Given the description of an element on the screen output the (x, y) to click on. 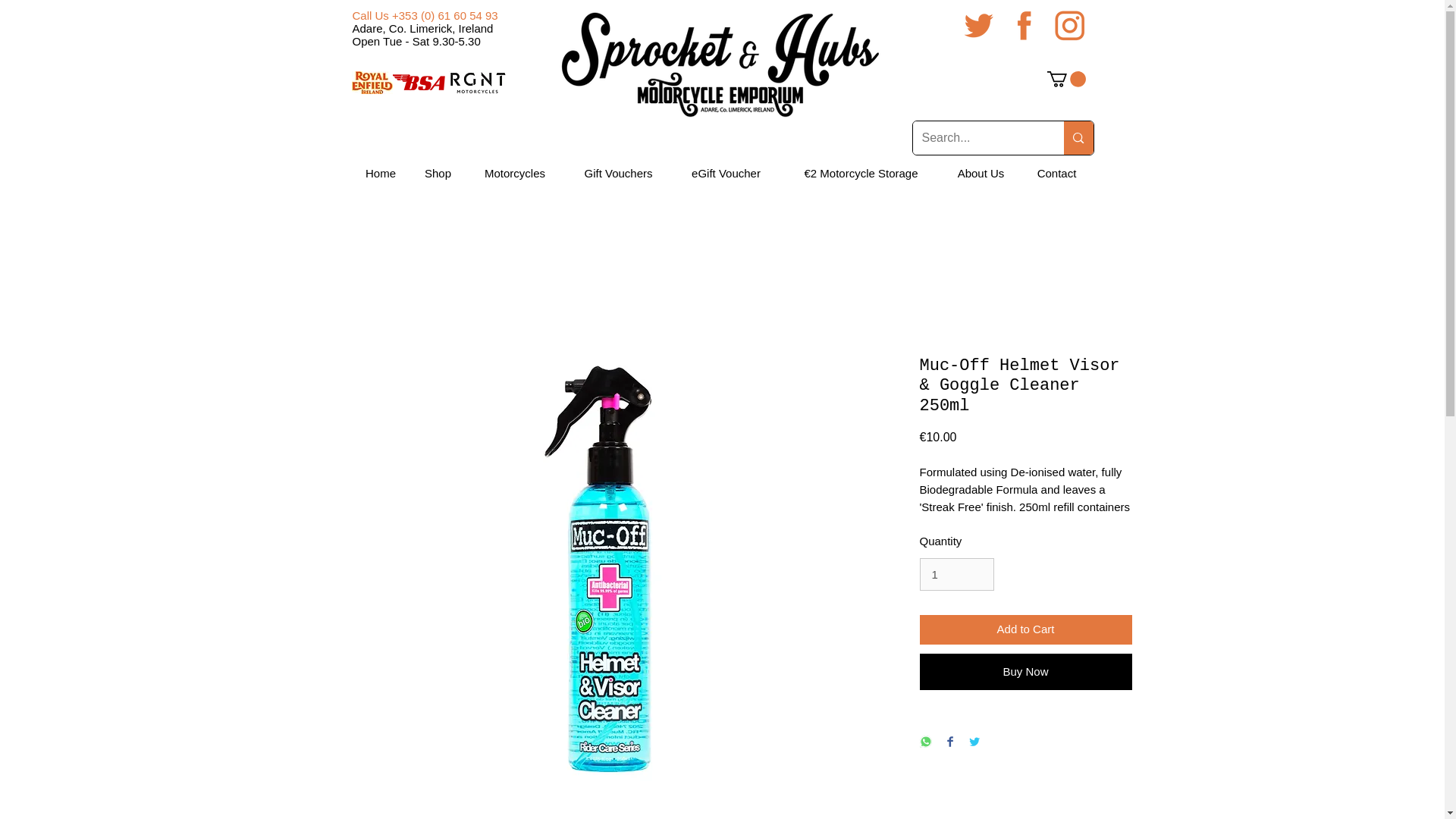
1 (955, 574)
Gift Vouchers (617, 173)
Motorcycles (514, 173)
eGift Voucher (724, 173)
Home (380, 173)
Shop (437, 173)
